Given the description of an element on the screen output the (x, y) to click on. 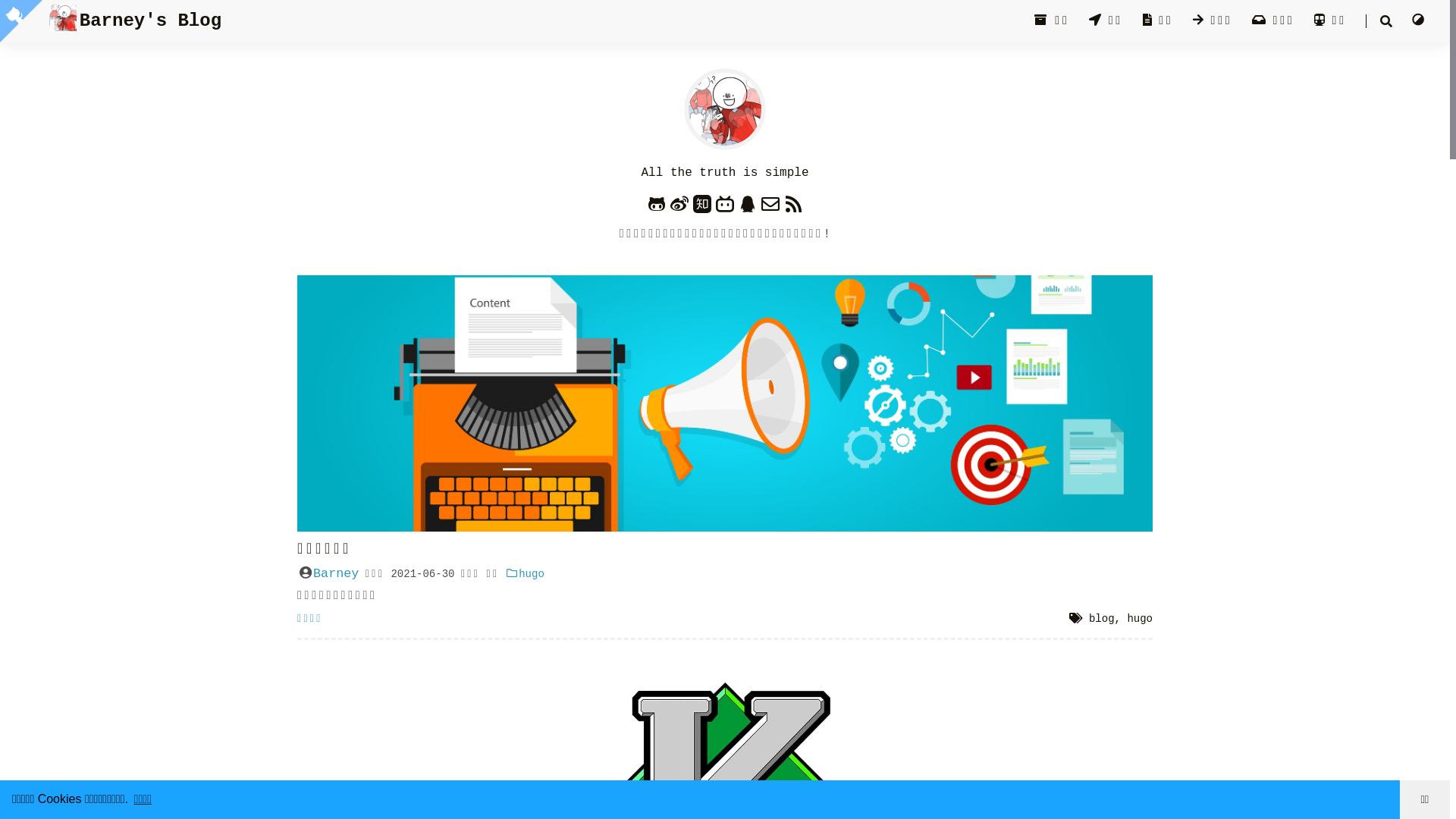
hugo Element type: text (1139, 618)
hugo Element type: text (524, 573)
Barney Element type: text (335, 573)
/images/img/20211204152923.png Element type: hover (724, 403)
blog Element type: text (1101, 618)
/images/all/logo.png Element type: hover (64, 17)
Email Element type: hover (770, 202)
GitHub Element type: hover (656, 202)
Barney's Blog Element type: text (135, 20)
bilibili Element type: hover (724, 202)
QQ Element type: hover (747, 202)
RSS Element type: hover (792, 202)
/images/all/logo.png Element type: hover (724, 108)
